Given the description of an element on the screen output the (x, y) to click on. 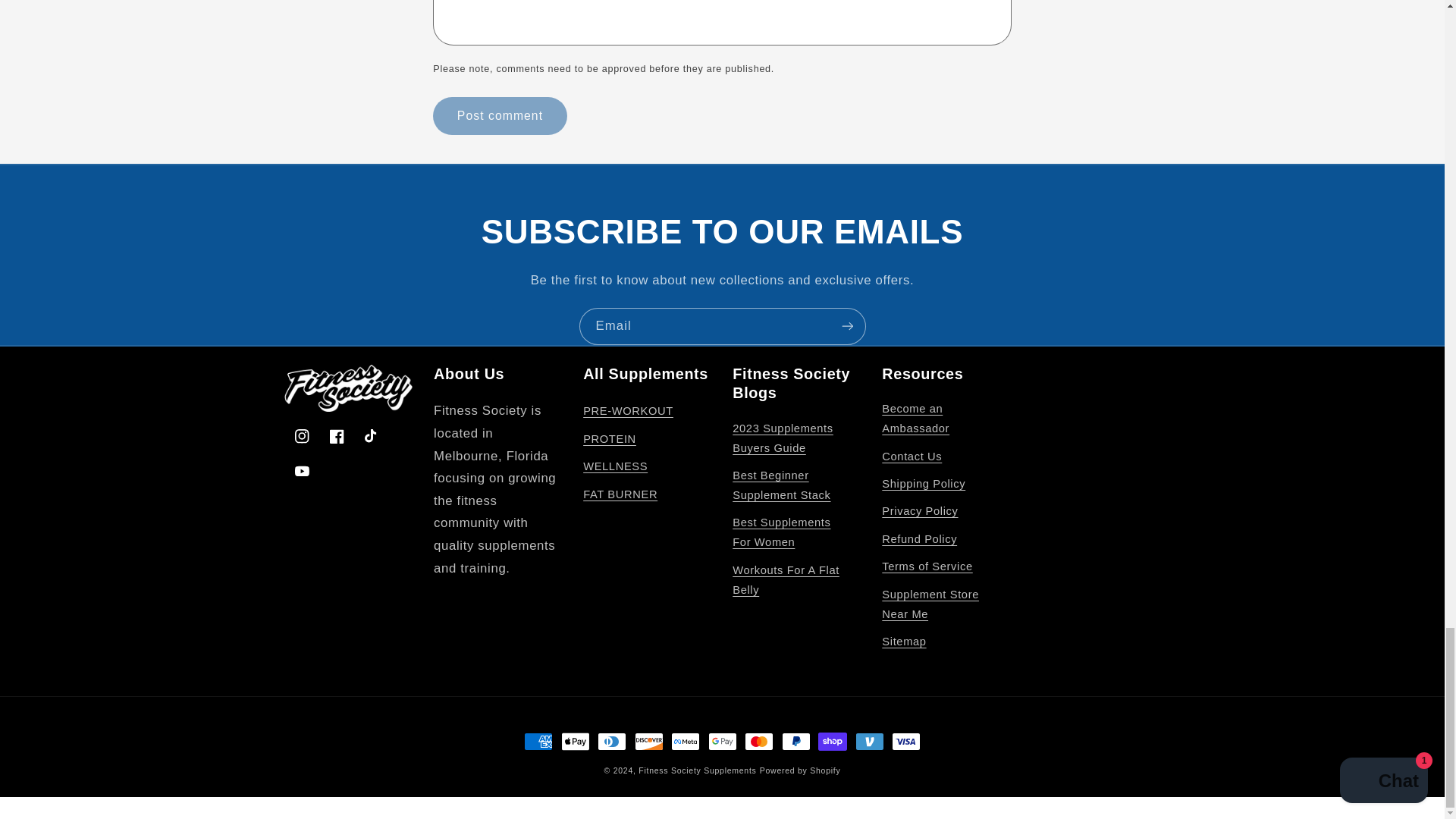
Post comment (499, 115)
